Given the description of an element on the screen output the (x, y) to click on. 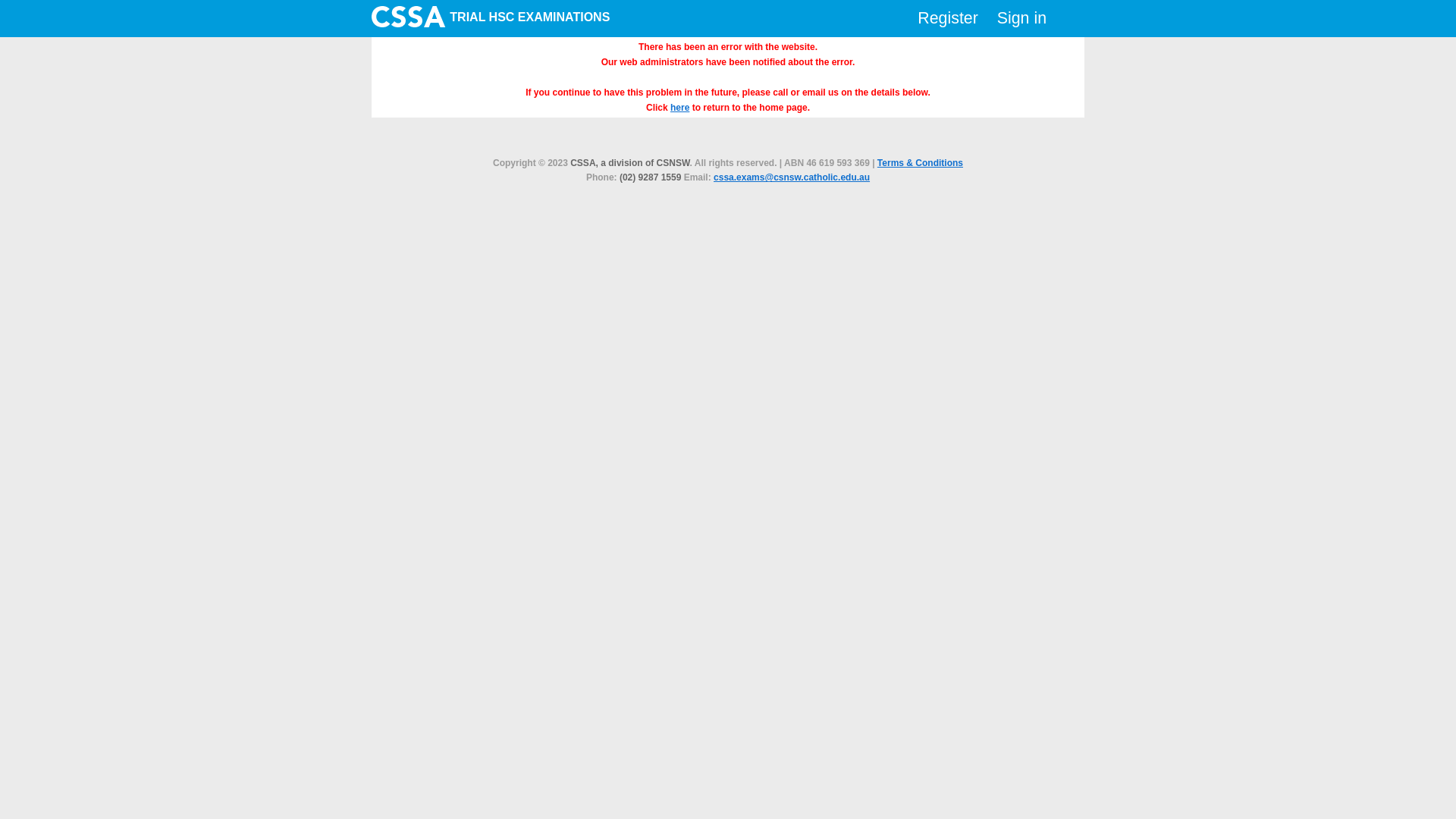
here Element type: text (679, 107)
TRIAL HSC EXAMINATIONS Element type: text (490, 18)
Sign in Element type: text (1021, 18)
Register Element type: text (947, 18)
cssa.exams@csnsw.catholic.edu.au Element type: text (791, 177)
Terms & Conditions Element type: text (920, 162)
